Given the description of an element on the screen output the (x, y) to click on. 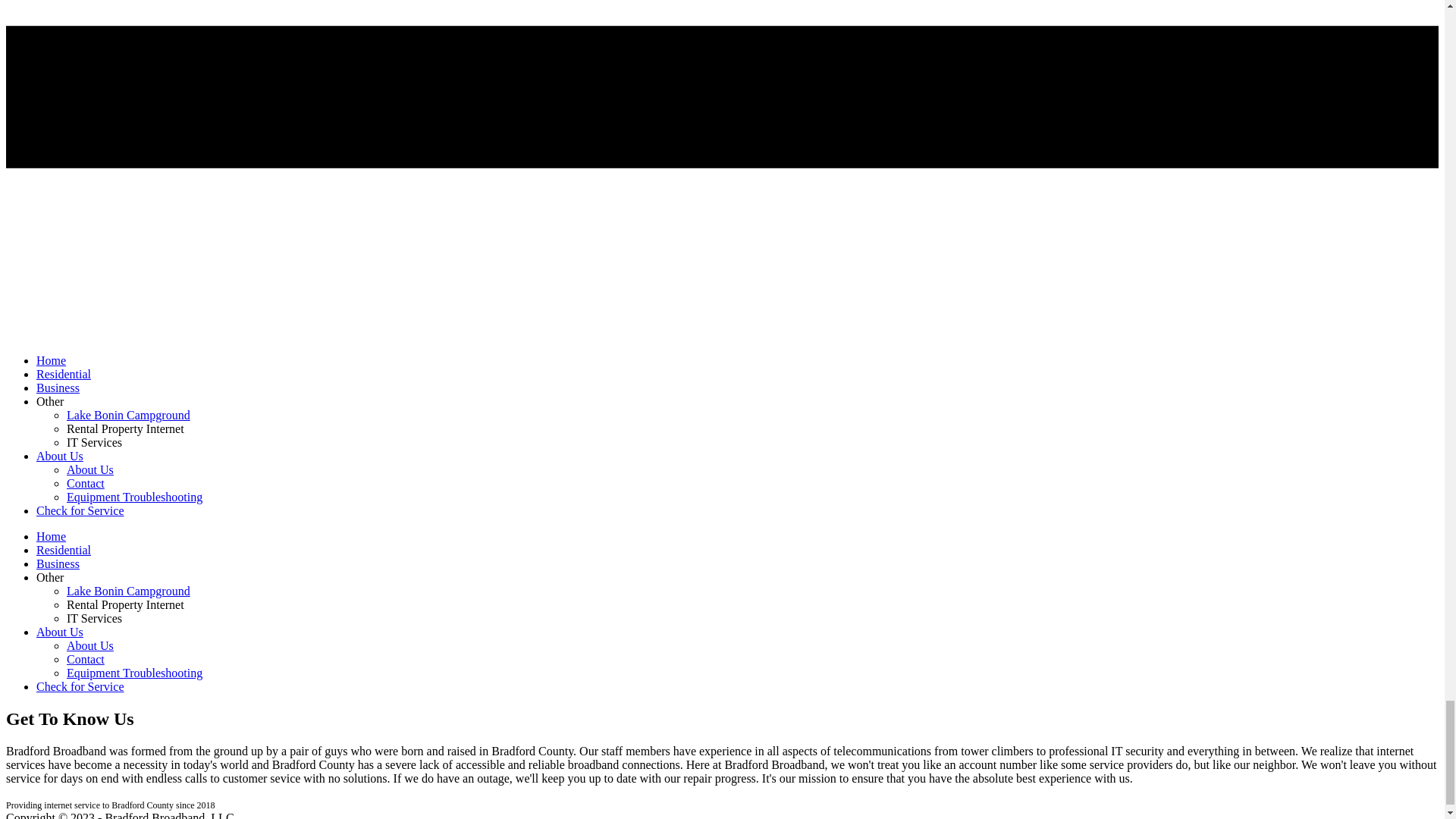
Check for Service (79, 510)
Residential (63, 374)
Check for Service (79, 686)
About Us (59, 456)
Other (50, 576)
Rental Property Internet (125, 428)
IT Services (94, 441)
Residential (63, 549)
Lake Bonin Campground (128, 414)
IT Services (94, 617)
About Us (89, 645)
Home (50, 535)
Home (50, 360)
Lake Bonin Campground (128, 590)
About Us (89, 469)
